Given the description of an element on the screen output the (x, y) to click on. 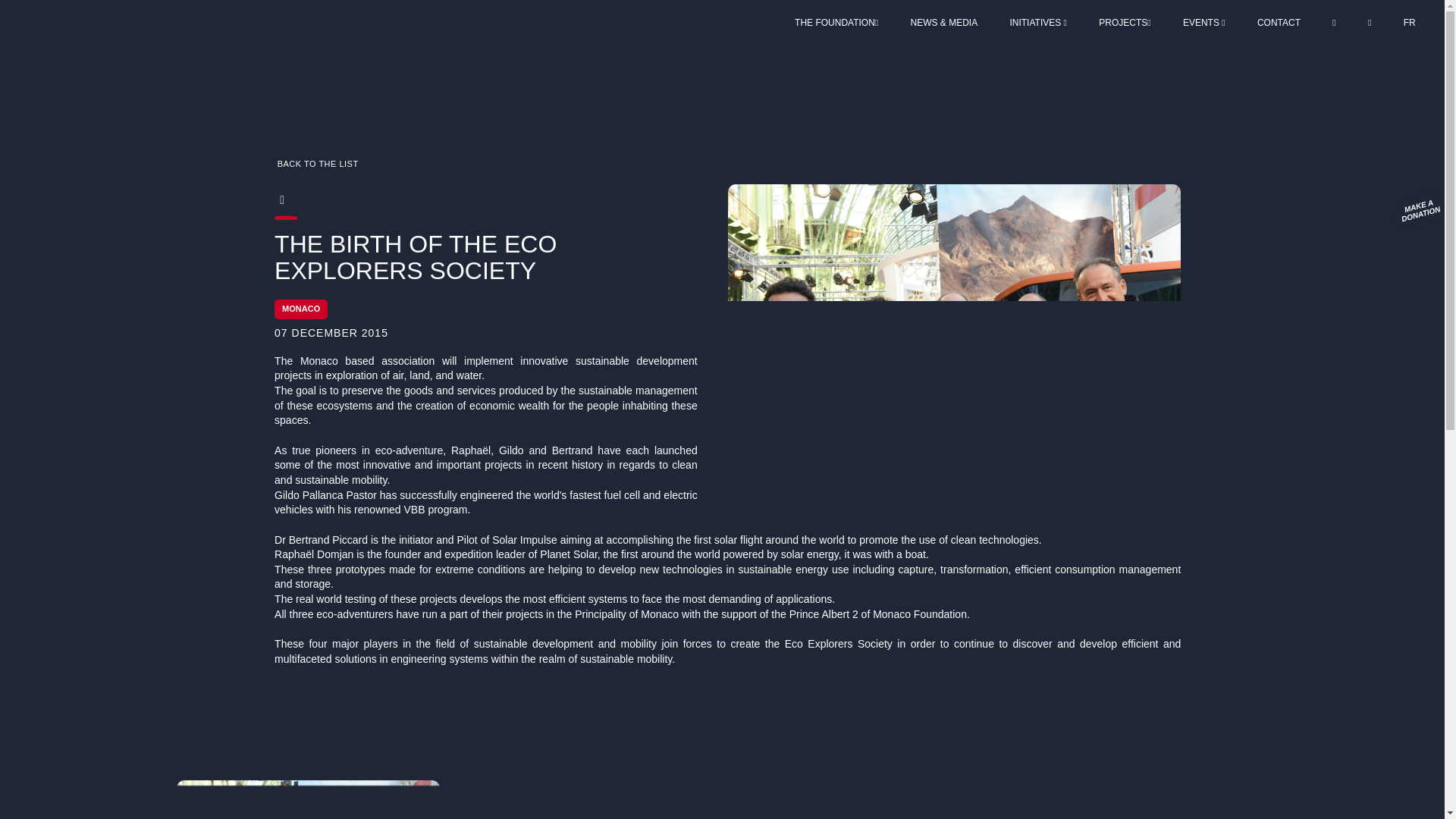
INITIATIVES (1037, 22)
Fondation Prince Albert II de Monaco (113, 53)
THE FOUNDATION (836, 22)
Facebook (250, 200)
